Given the description of an element on the screen output the (x, y) to click on. 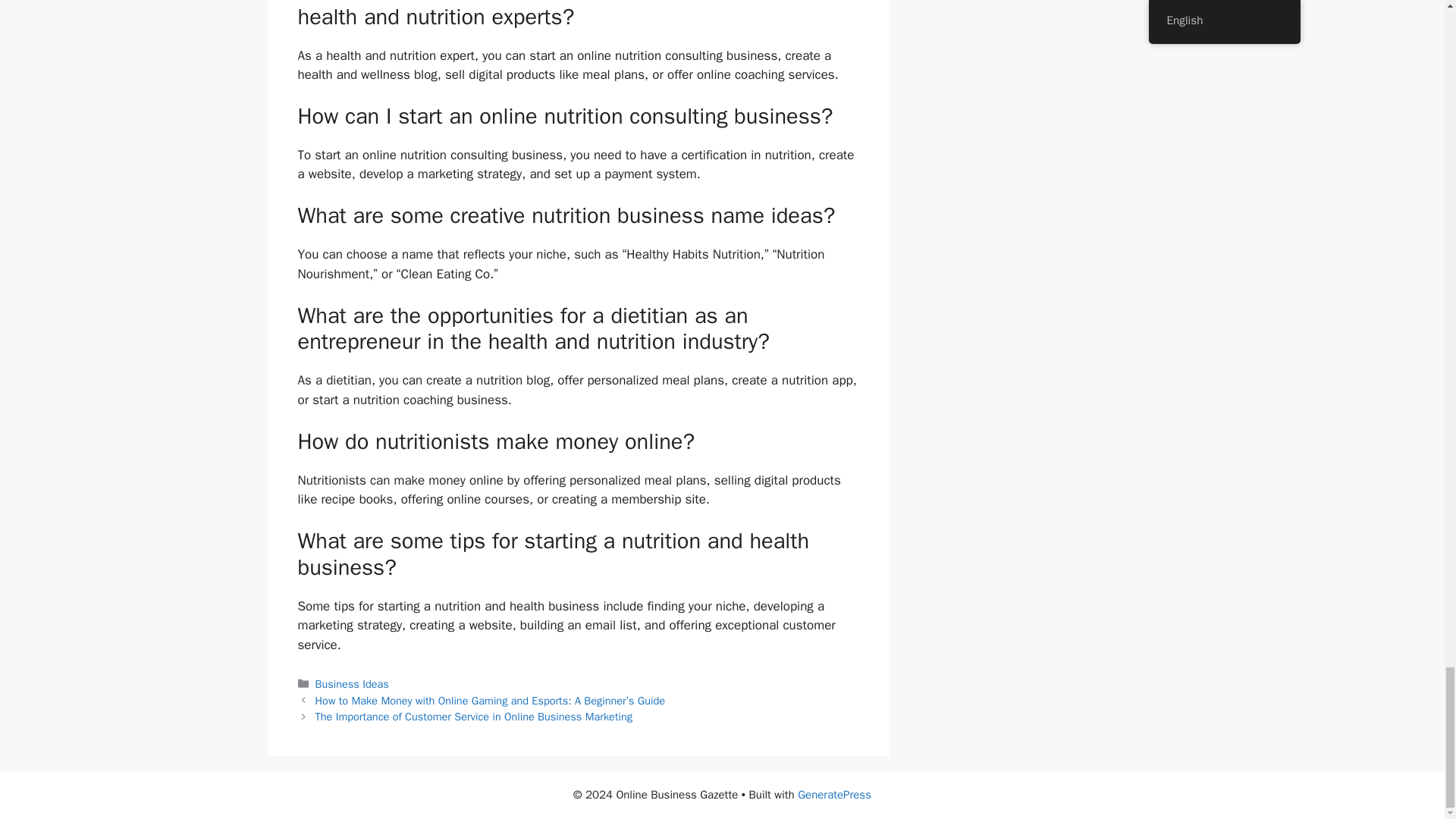
Business Ideas (351, 684)
GeneratePress (833, 794)
